Given the description of an element on the screen output the (x, y) to click on. 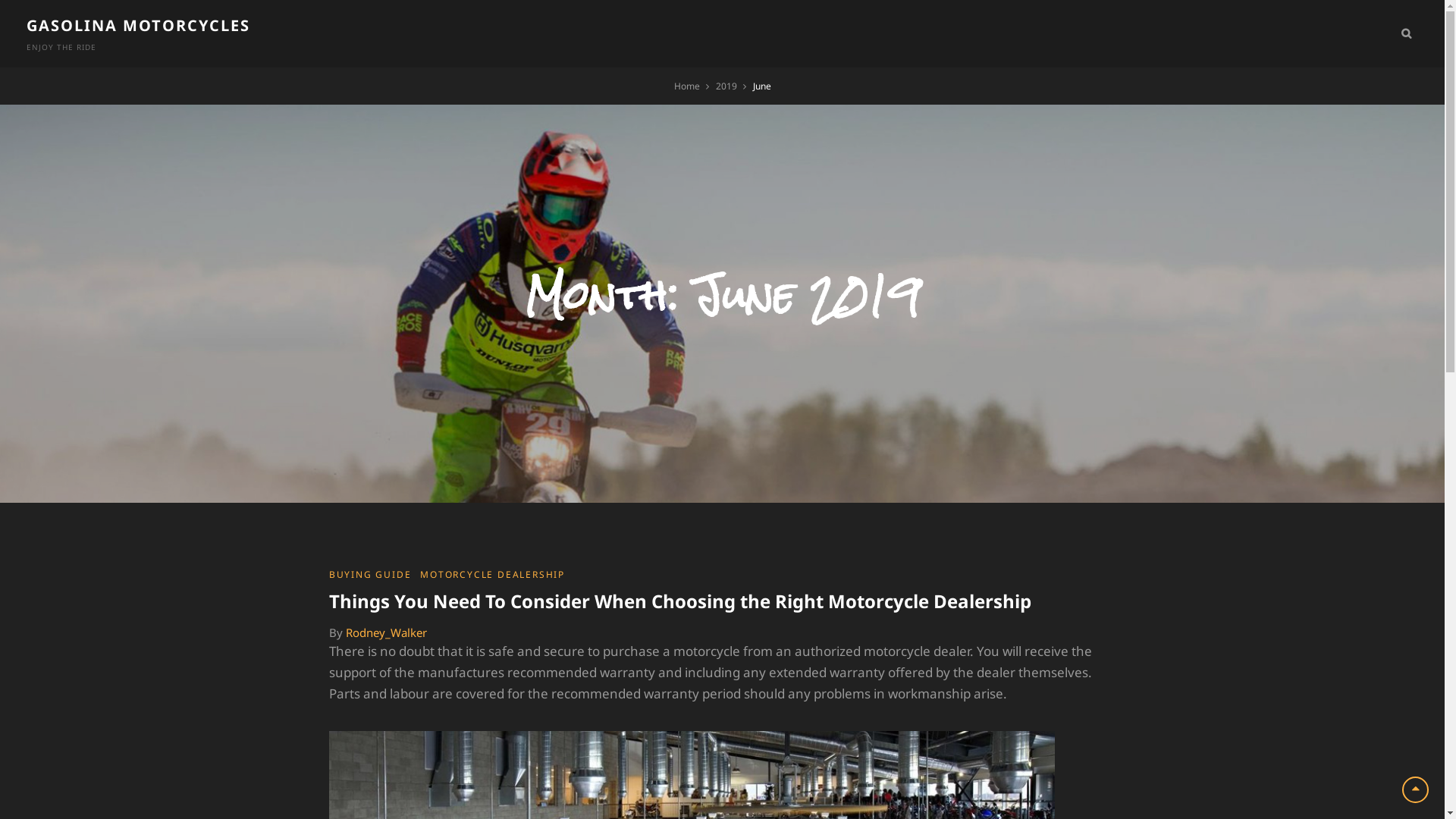
MOTORCYCLE DEALERSHIP Element type: text (492, 573)
Rodney_Walker Element type: text (385, 632)
GASOLINA MOTORCYCLES Element type: text (138, 25)
BUYING GUIDE Element type: text (370, 573)
Home Element type: text (686, 86)
2019 Element type: text (726, 86)
SEARCH Element type: text (1406, 33)
Skip to content Element type: text (0, 0)
Scroll Up Element type: text (1415, 789)
